Given the description of an element on the screen output the (x, y) to click on. 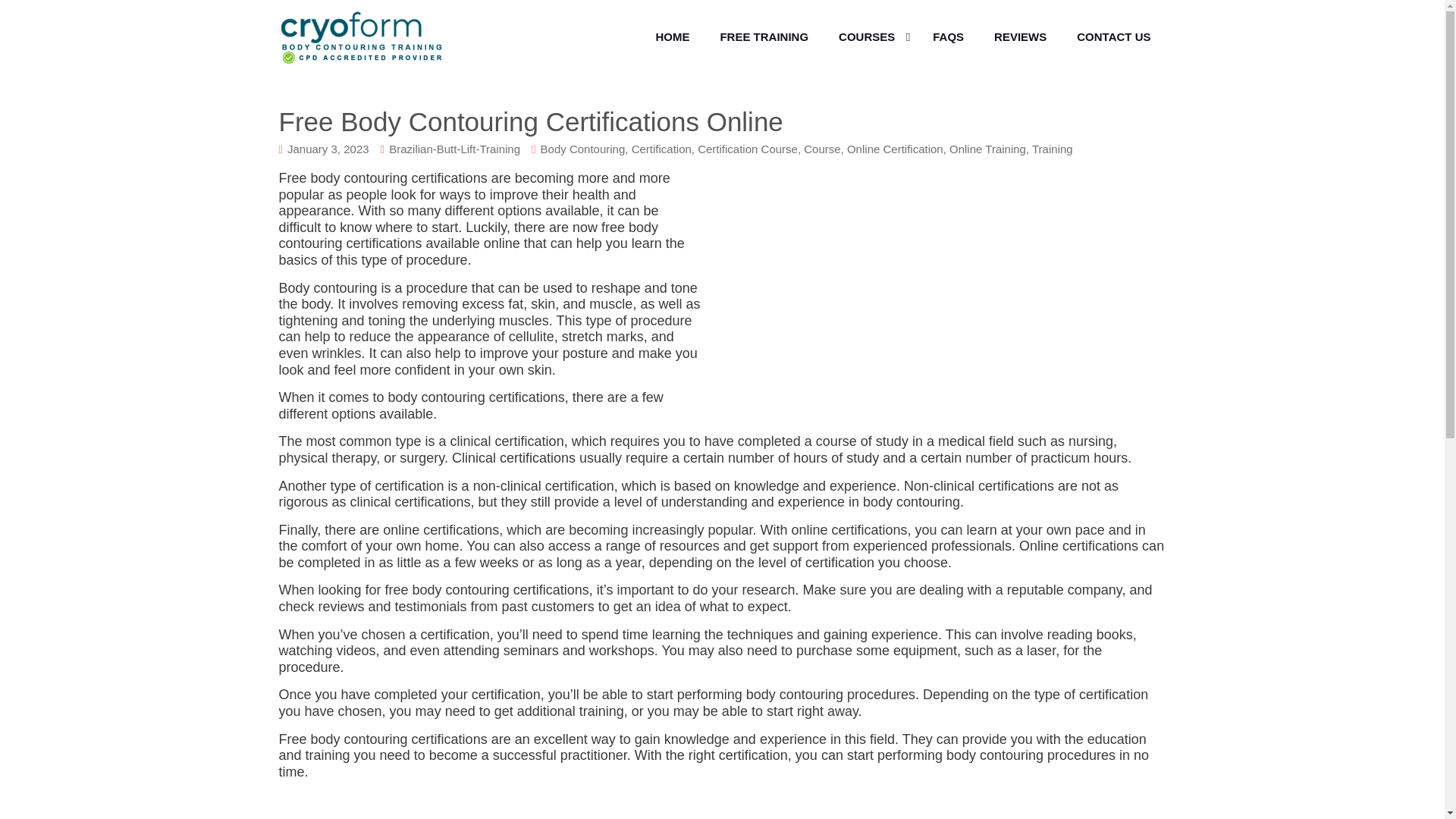
REVIEWS (1019, 37)
Training (1052, 148)
Certification (661, 148)
COURSES (870, 37)
HOME (672, 37)
Online Certification (895, 148)
Brazilian-Butt-Lift-Training (453, 148)
FREE TRAINING (764, 37)
FAQS (947, 37)
Online Training (987, 148)
January 3, 2023 (327, 148)
CONTACT US (1113, 37)
Course (821, 148)
Certification Course (747, 148)
Body Contouring (583, 148)
